Given the description of an element on the screen output the (x, y) to click on. 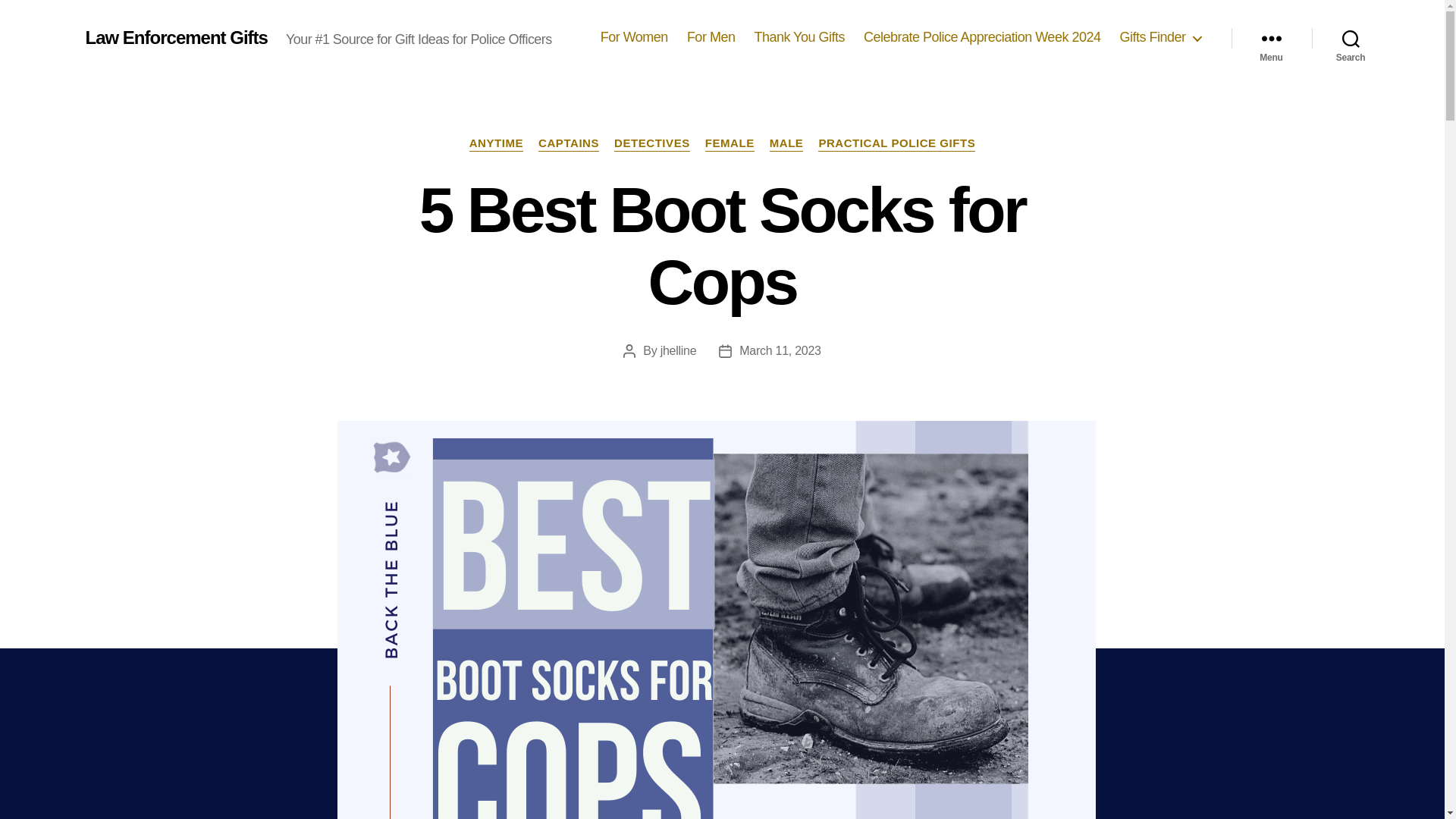
Celebrate Police Appreciation Week 2024 (981, 37)
Menu (1271, 37)
Search (1350, 37)
Law Enforcement Gifts (175, 37)
For Women (633, 37)
Gifts Finder (1159, 37)
For Men (711, 37)
Thank You Gifts (799, 37)
